Given the description of an element on the screen output the (x, y) to click on. 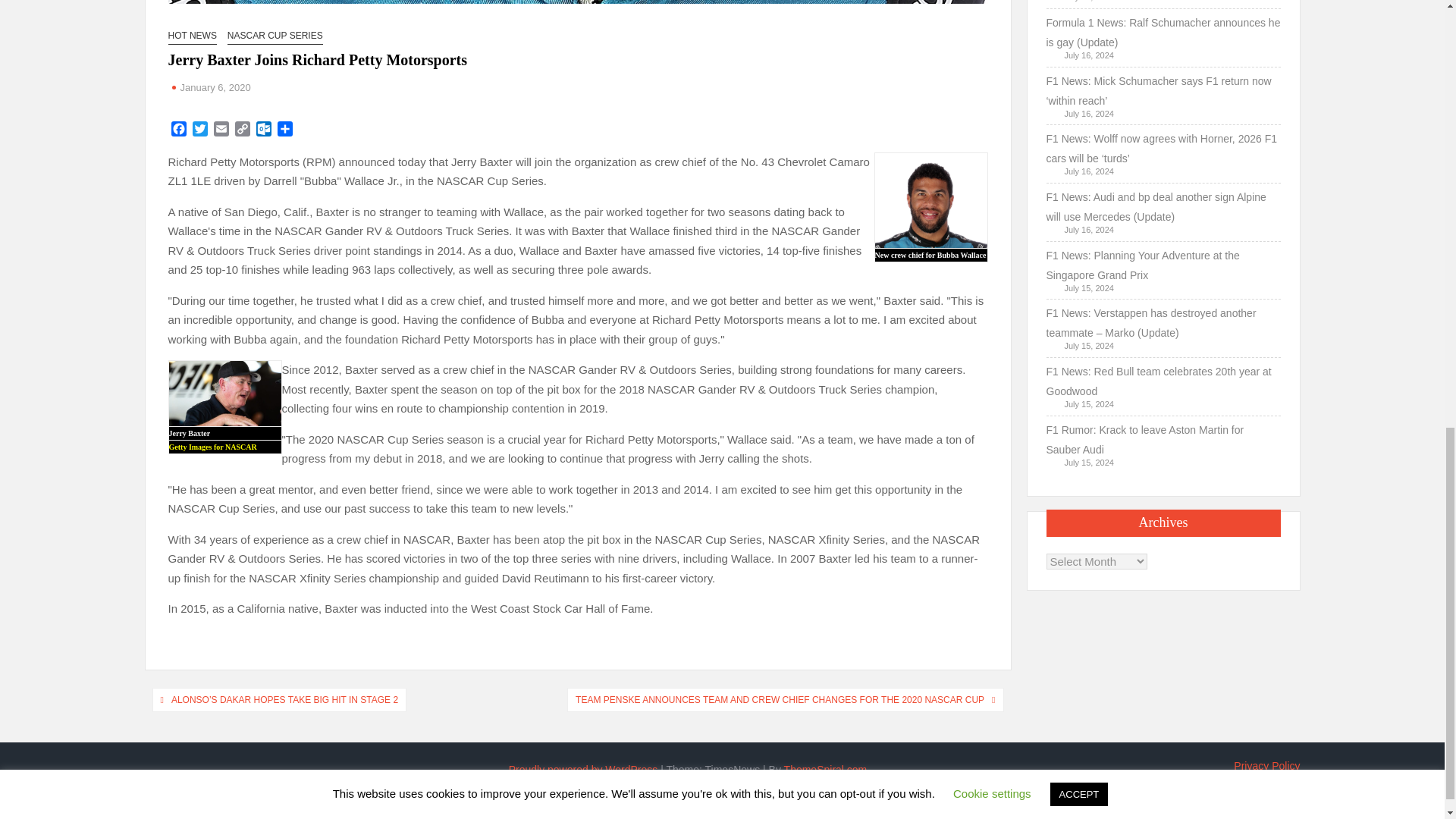
Outlook.com (264, 130)
Facebook (178, 130)
Copy Link (242, 130)
Email (221, 130)
Twitter (200, 130)
Social Media Auto Publish (665, 804)
